Given the description of an element on the screen output the (x, y) to click on. 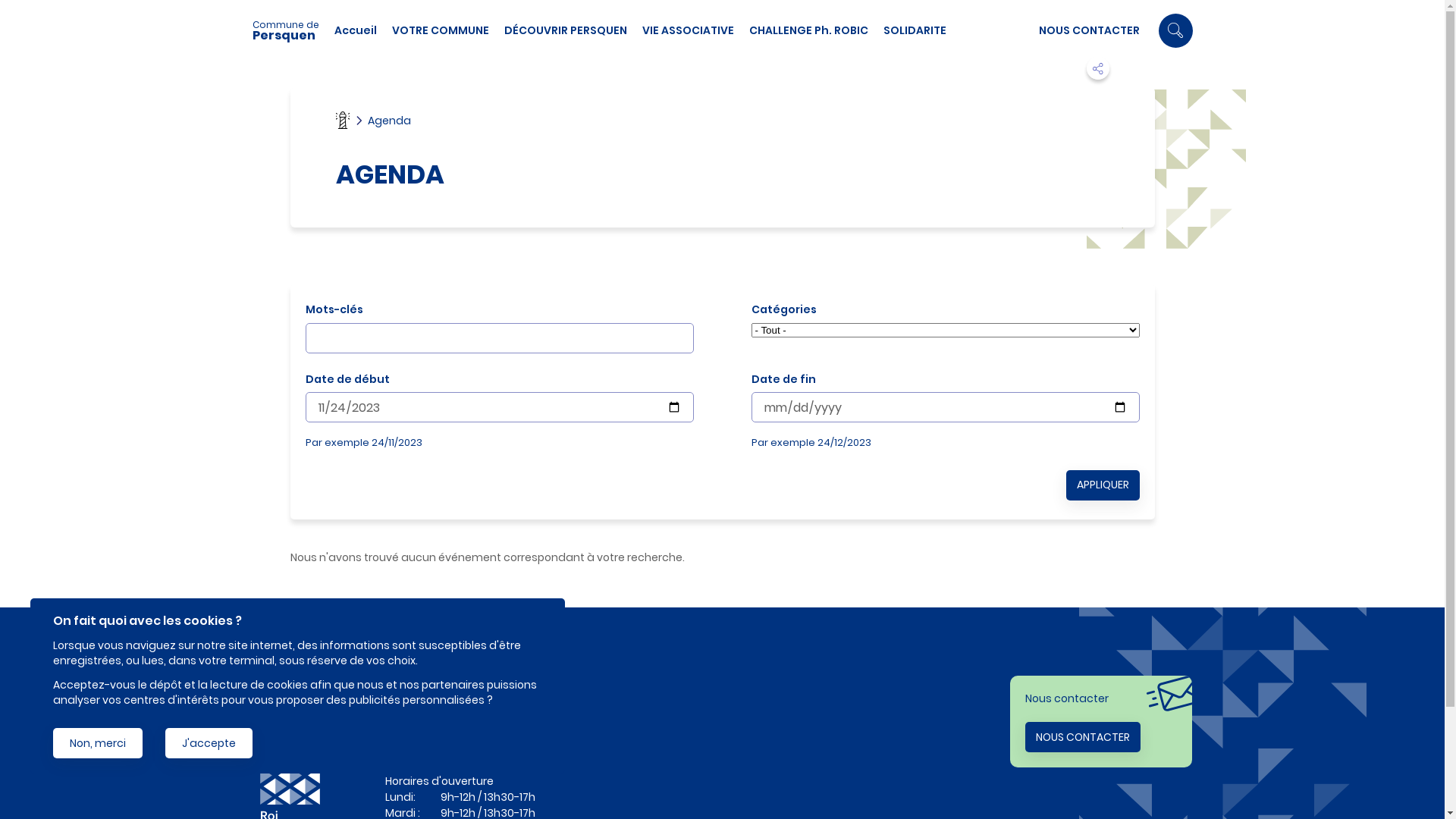
Commune de
Persquen Element type: text (292, 30)
NOUS CONTACTER Element type: text (1088, 30)
Non, merci Element type: text (97, 743)
  Element type: text (722, 765)
  Element type: text (722, 733)
Accueil Element type: text (341, 119)
  Element type: text (722, 717)
APPLIQUER Element type: text (1102, 485)
NOUS CONTACTER Element type: text (1082, 736)
J'accepte Element type: text (208, 743)
  Element type: text (722, 749)
SOLIDARITE Element type: text (913, 30)
Accueil Element type: text (354, 30)
